Given the description of an element on the screen output the (x, y) to click on. 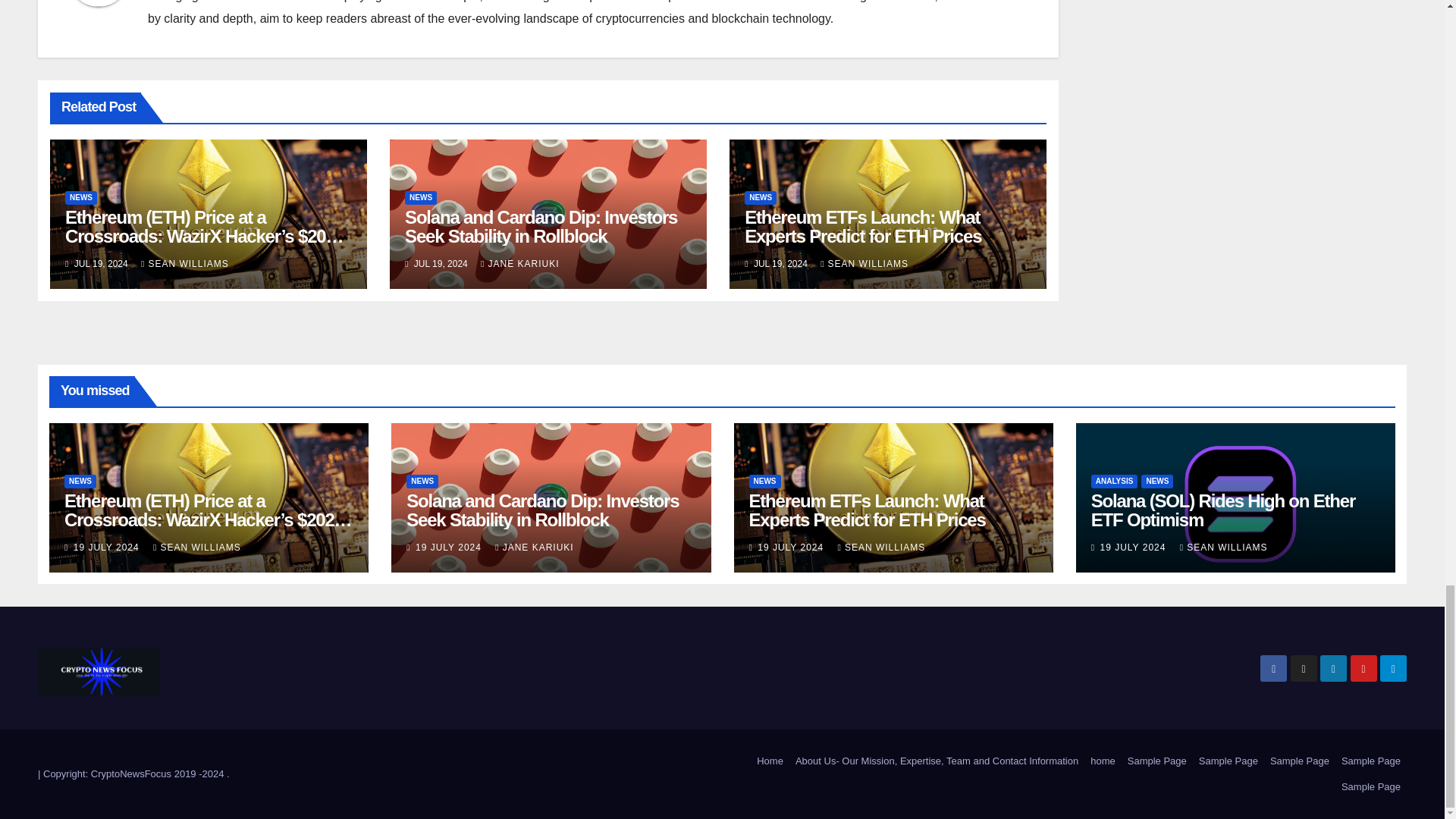
Home (770, 760)
